Given the description of an element on the screen output the (x, y) to click on. 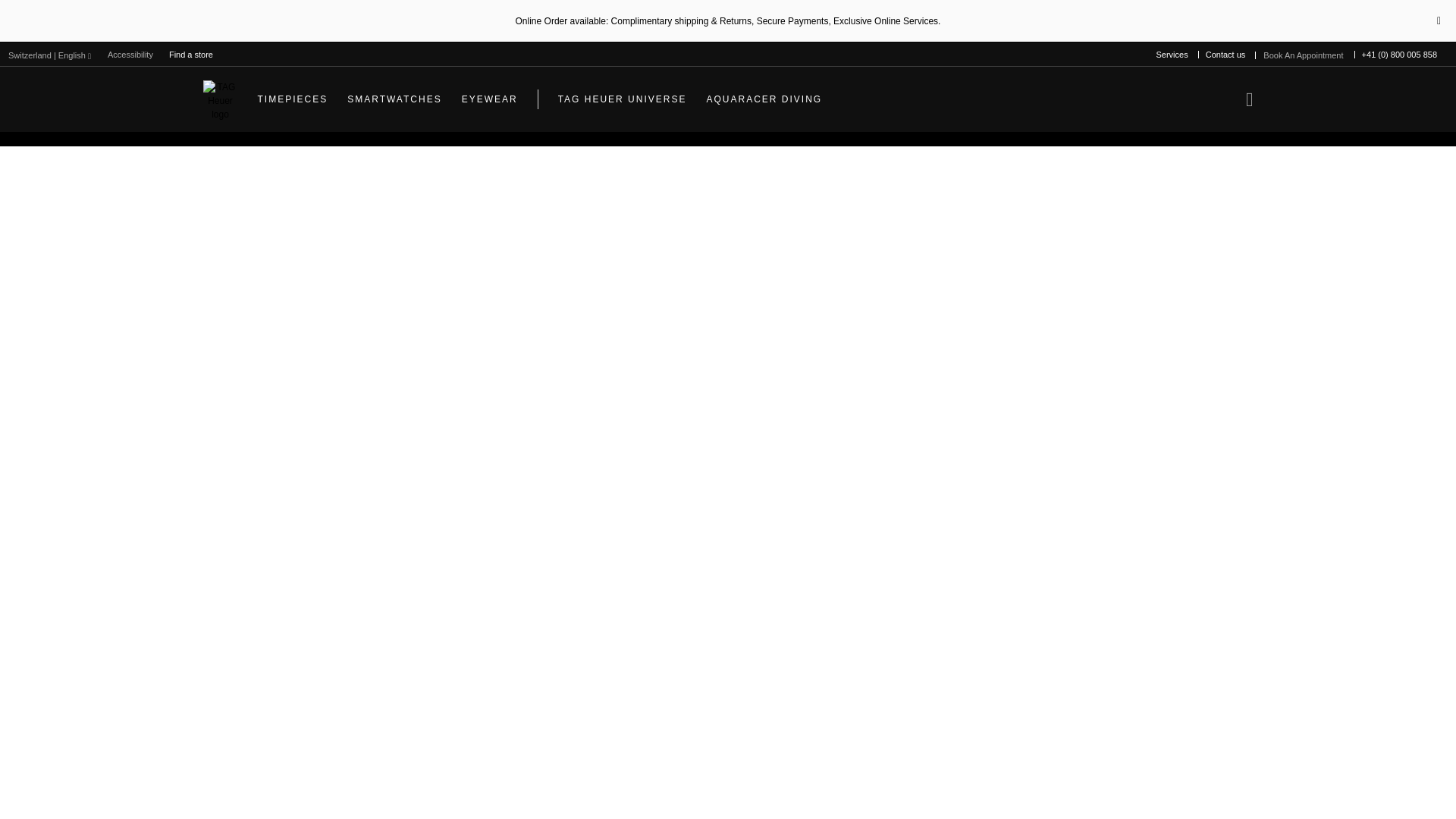
Accessibility (130, 54)
Contact us (1225, 54)
Find a store (191, 54)
Services (1171, 54)
Book An Appointment (1303, 55)
TIMEPIECES (293, 98)
